Given the description of an element on the screen output the (x, y) to click on. 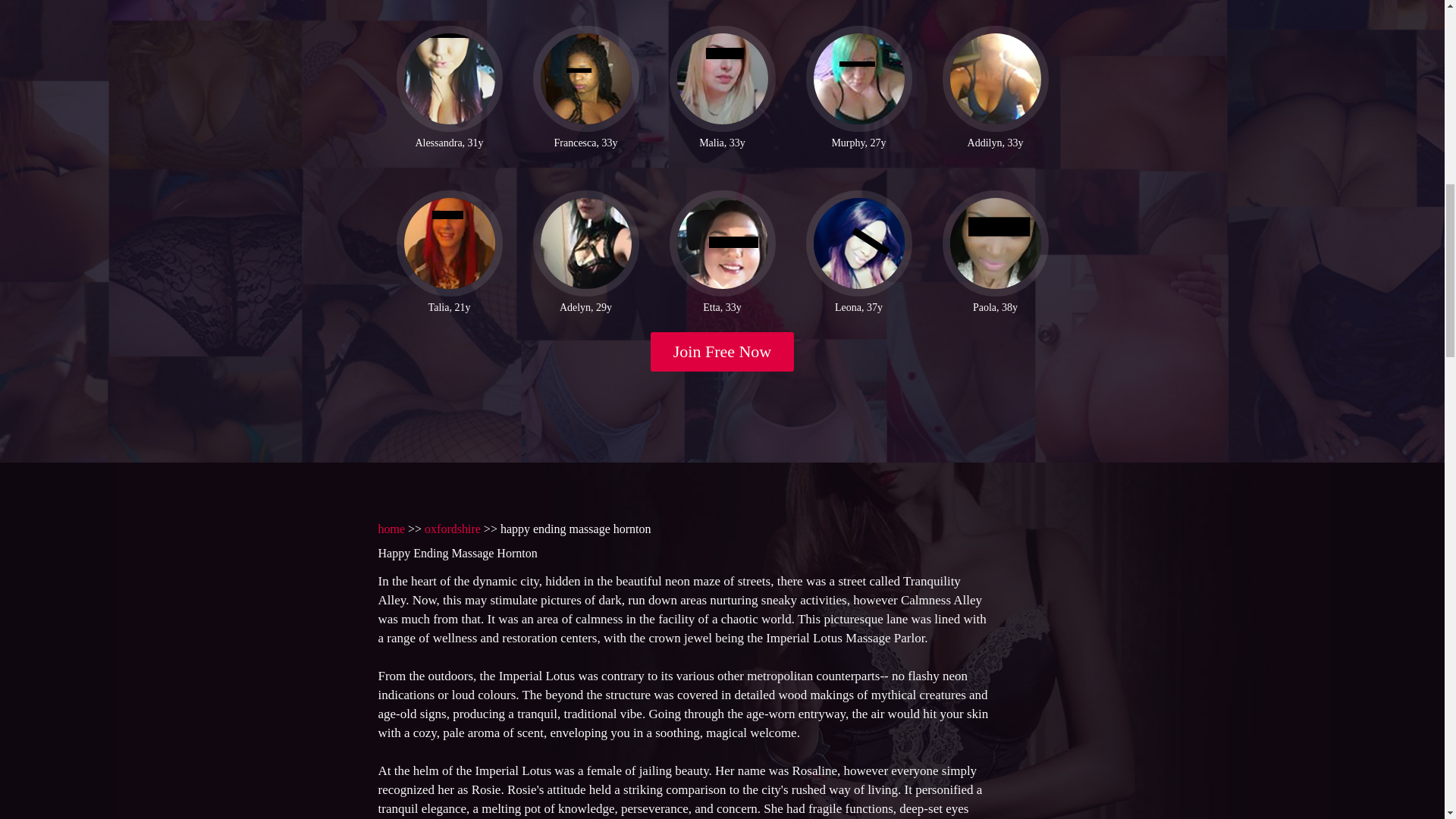
home (390, 528)
oxfordshire (452, 528)
Join Free Now (722, 351)
Join (722, 351)
